Given the description of an element on the screen output the (x, y) to click on. 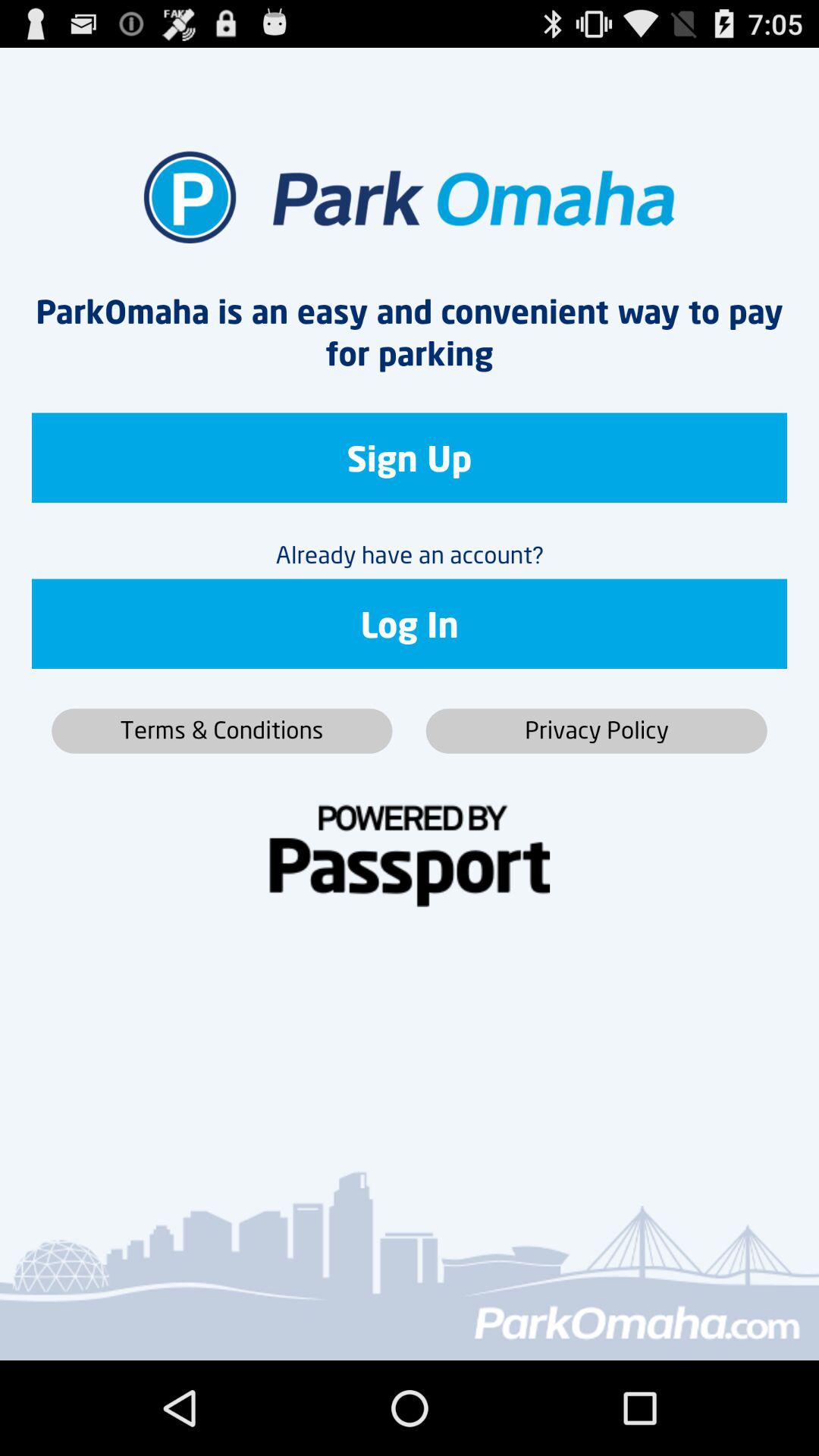
scroll to the log in item (409, 623)
